Given the description of an element on the screen output the (x, y) to click on. 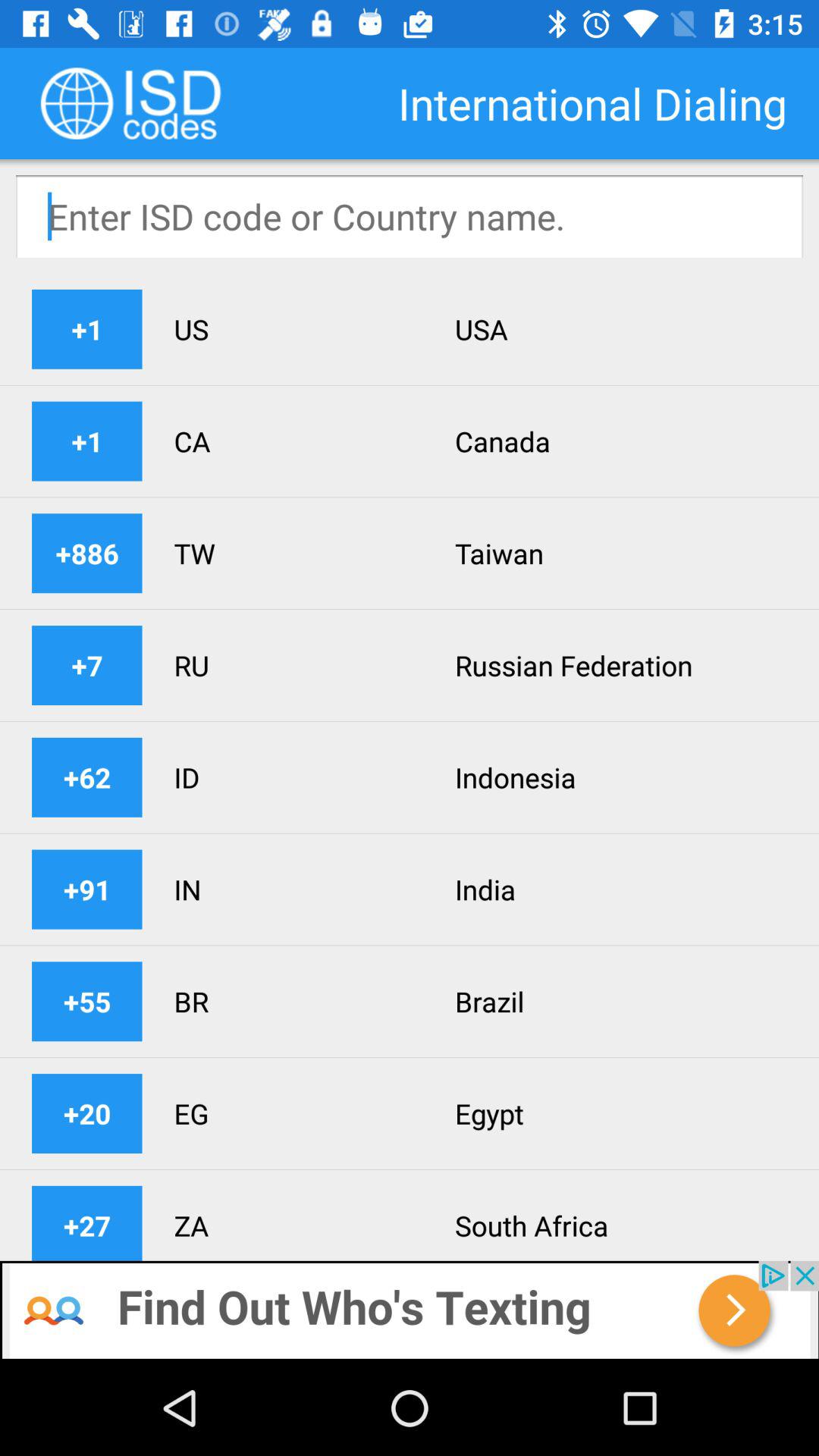
select isd code/country field (409, 216)
